Given the description of an element on the screen output the (x, y) to click on. 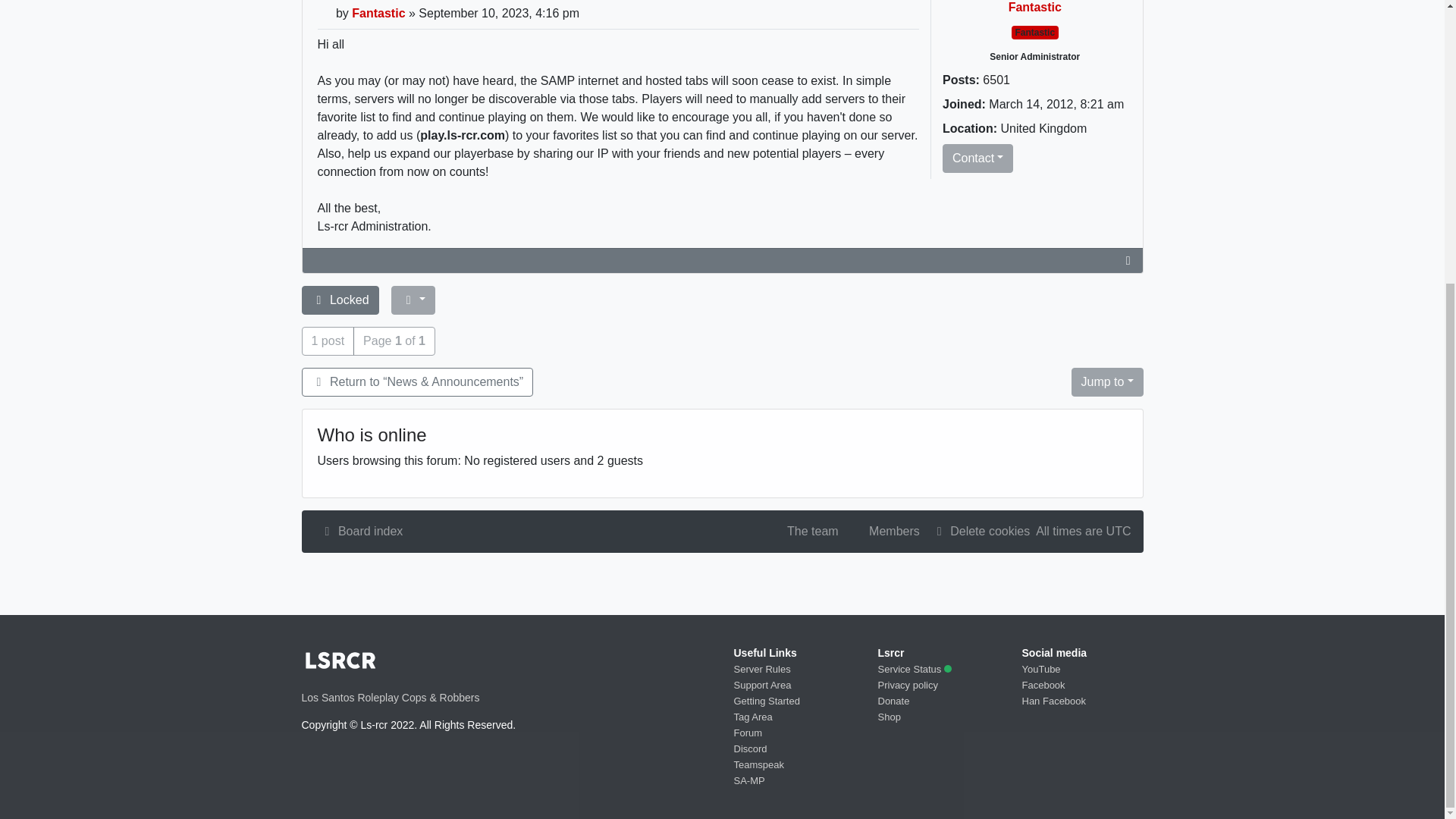
View complete list of members (885, 531)
UTC (1118, 530)
Topic tools (413, 299)
Jump to (1106, 381)
